Given the description of an element on the screen output the (x, y) to click on. 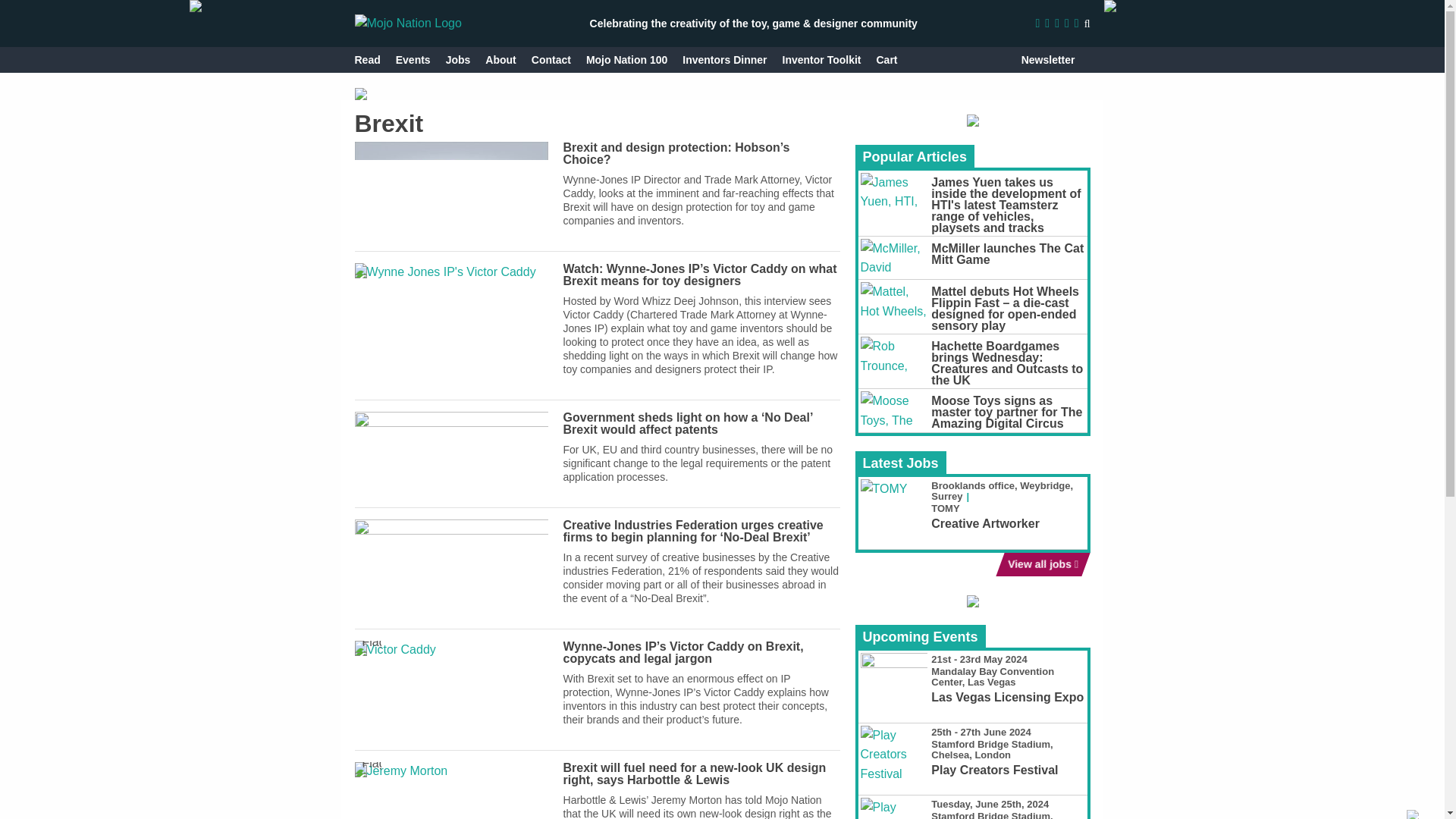
Contact (550, 59)
Jobs (457, 59)
About (499, 59)
Mojo Nation 100 (626, 59)
Events (413, 59)
Inventor Toolkit (822, 59)
Mojo Nation (408, 22)
Inventors Dinner (724, 59)
Go (1072, 59)
Newsletter (1048, 59)
Read (367, 59)
